Given the description of an element on the screen output the (x, y) to click on. 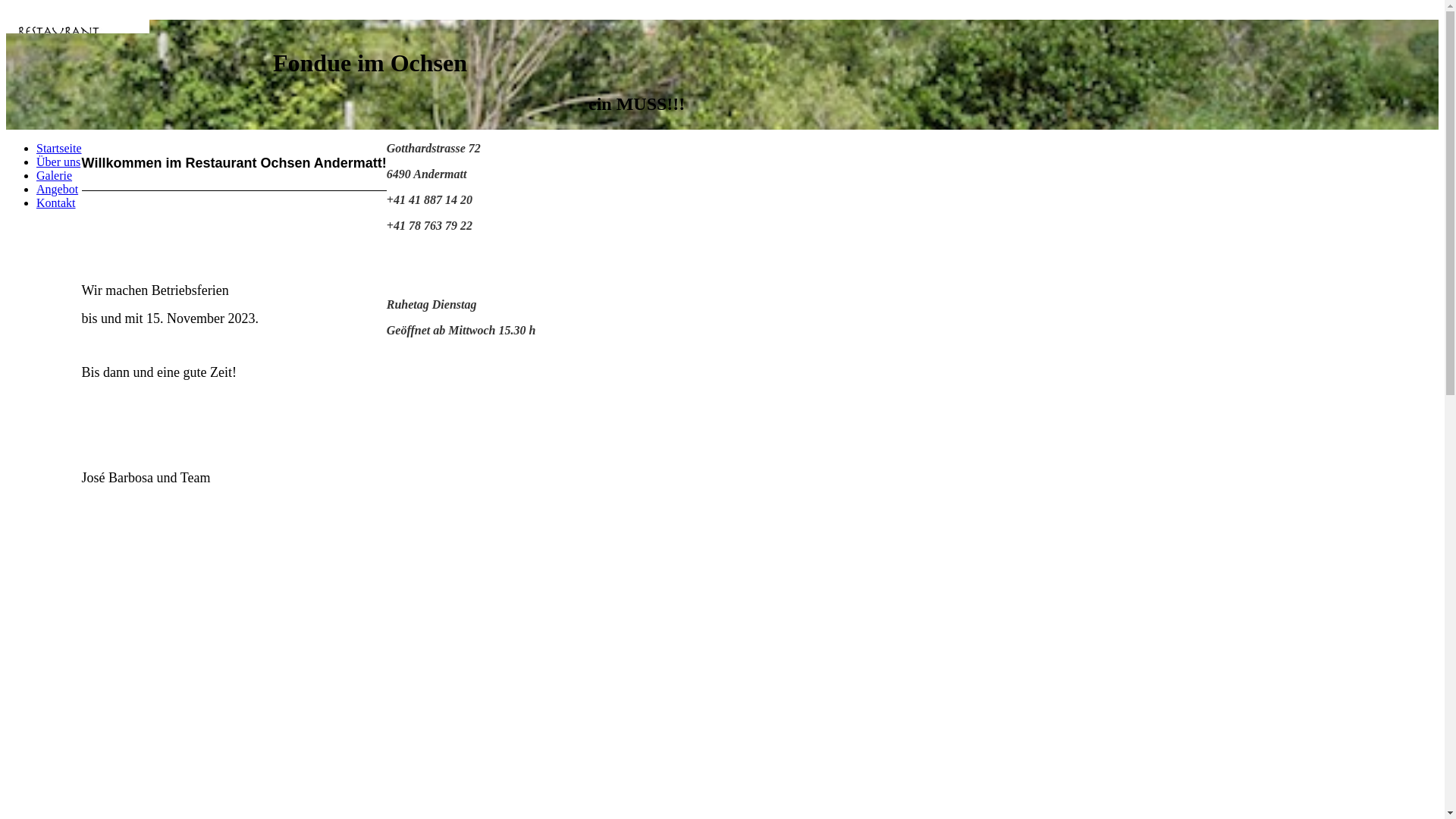
Angebot Element type: text (57, 188)
Galerie Element type: text (54, 175)
Kontakt Element type: text (55, 202)
Startseite Element type: text (58, 147)
